Given the description of an element on the screen output the (x, y) to click on. 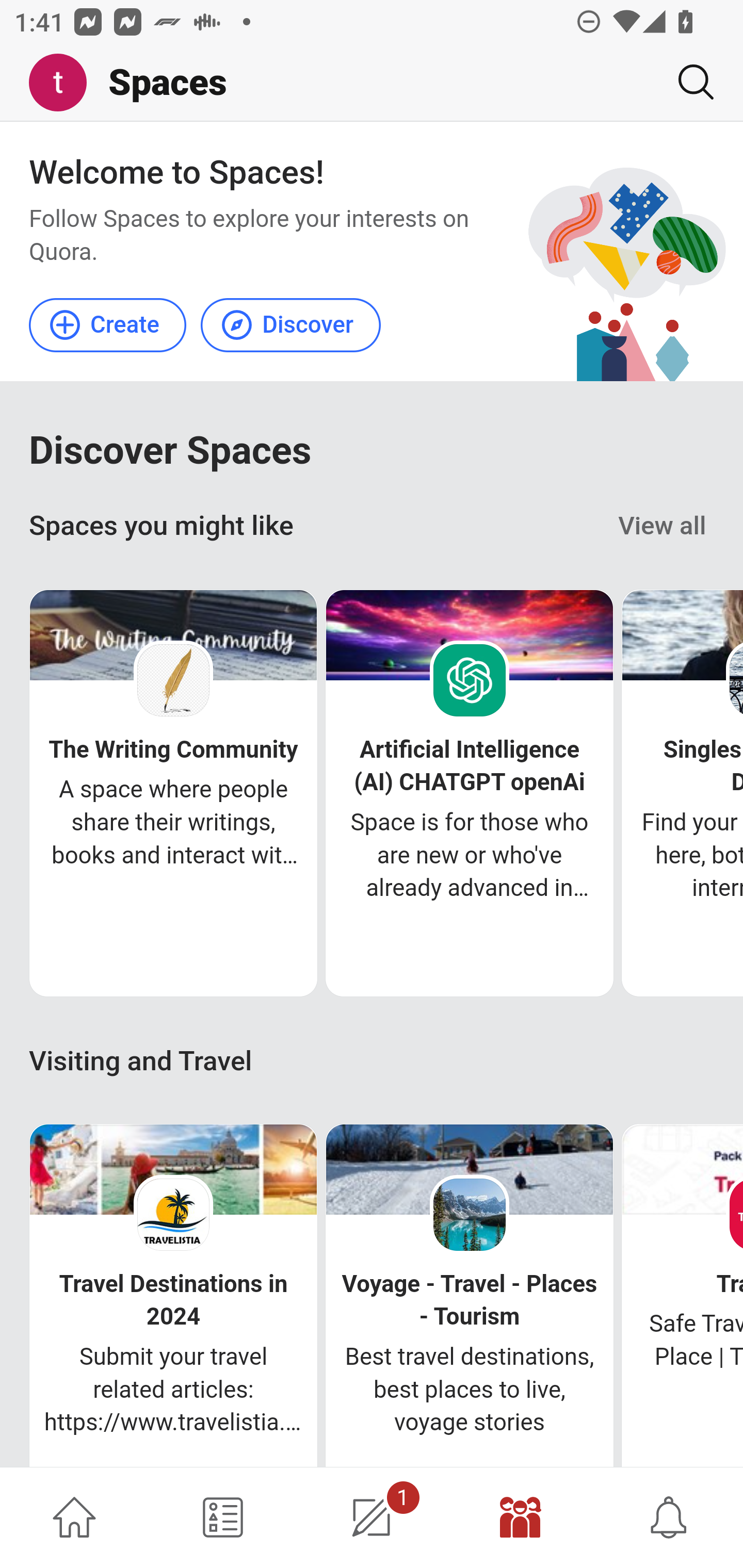
Me (64, 83)
Search (688, 82)
Create (107, 324)
Discover (289, 324)
View all (662, 525)
The Writing Community (172, 750)
Artificial Intelligence (AI) CHATGPT openAi (469, 766)
Travel Destinations in 2024 (173, 1300)
Voyage - Travel - Places - Tourism (469, 1300)
1 (371, 1517)
